Given the description of an element on the screen output the (x, y) to click on. 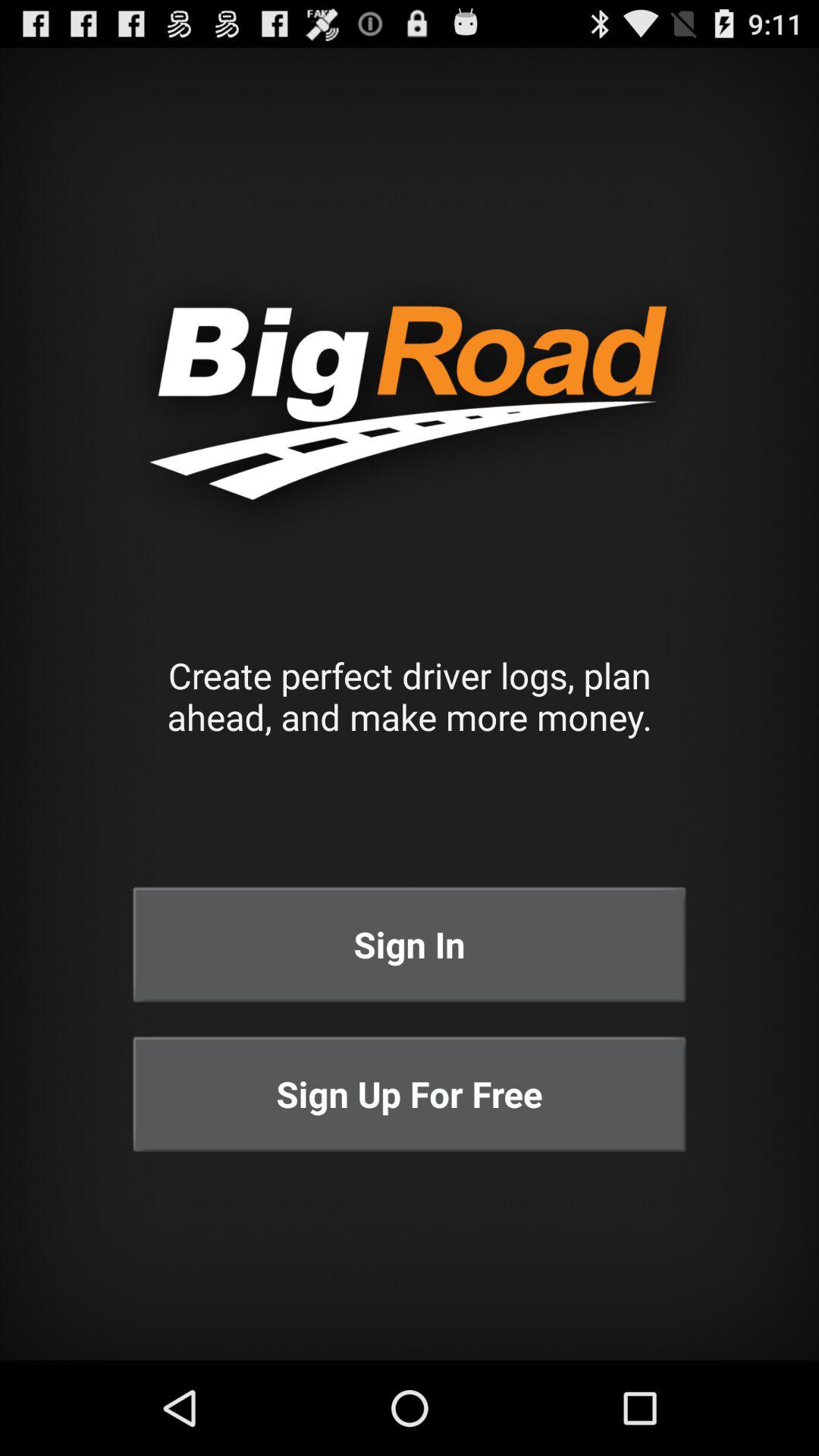
flip to the sign up for item (409, 1093)
